Given the description of an element on the screen output the (x, y) to click on. 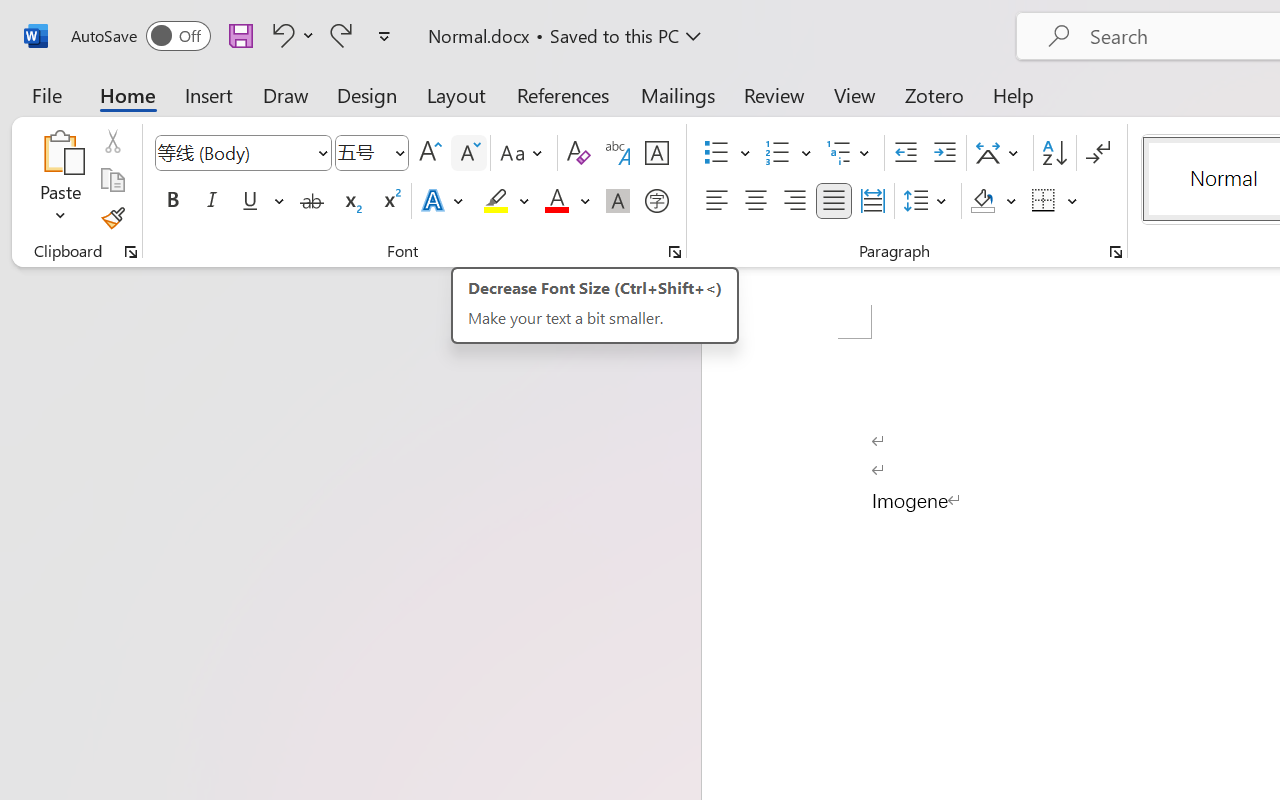
Center (756, 201)
Paragraph... (1115, 252)
Asian Layout (1000, 153)
Undo Typing (290, 35)
Subscript (350, 201)
Format Painter (112, 218)
Font Color RGB(255, 0, 0) (556, 201)
Text Highlight Color Yellow (495, 201)
Help (1013, 94)
